Given the description of an element on the screen output the (x, y) to click on. 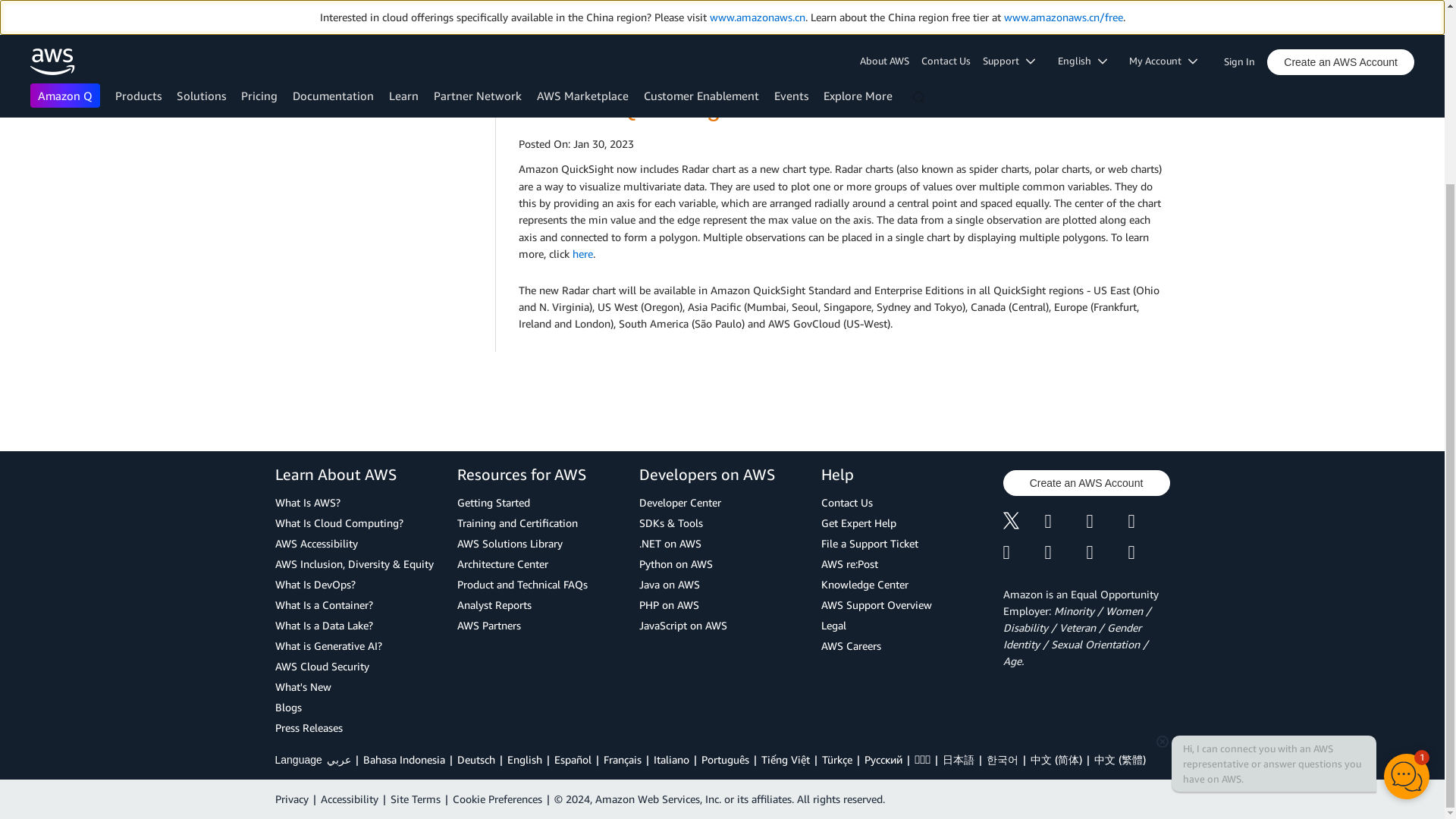
Twitch (1023, 552)
Press Releases (358, 727)
Twitter (1023, 522)
Podcast (1106, 552)
Facebook (1065, 522)
Instagram (1149, 522)
Linkedin (1106, 522)
YouTube (1065, 552)
